Given the description of an element on the screen output the (x, y) to click on. 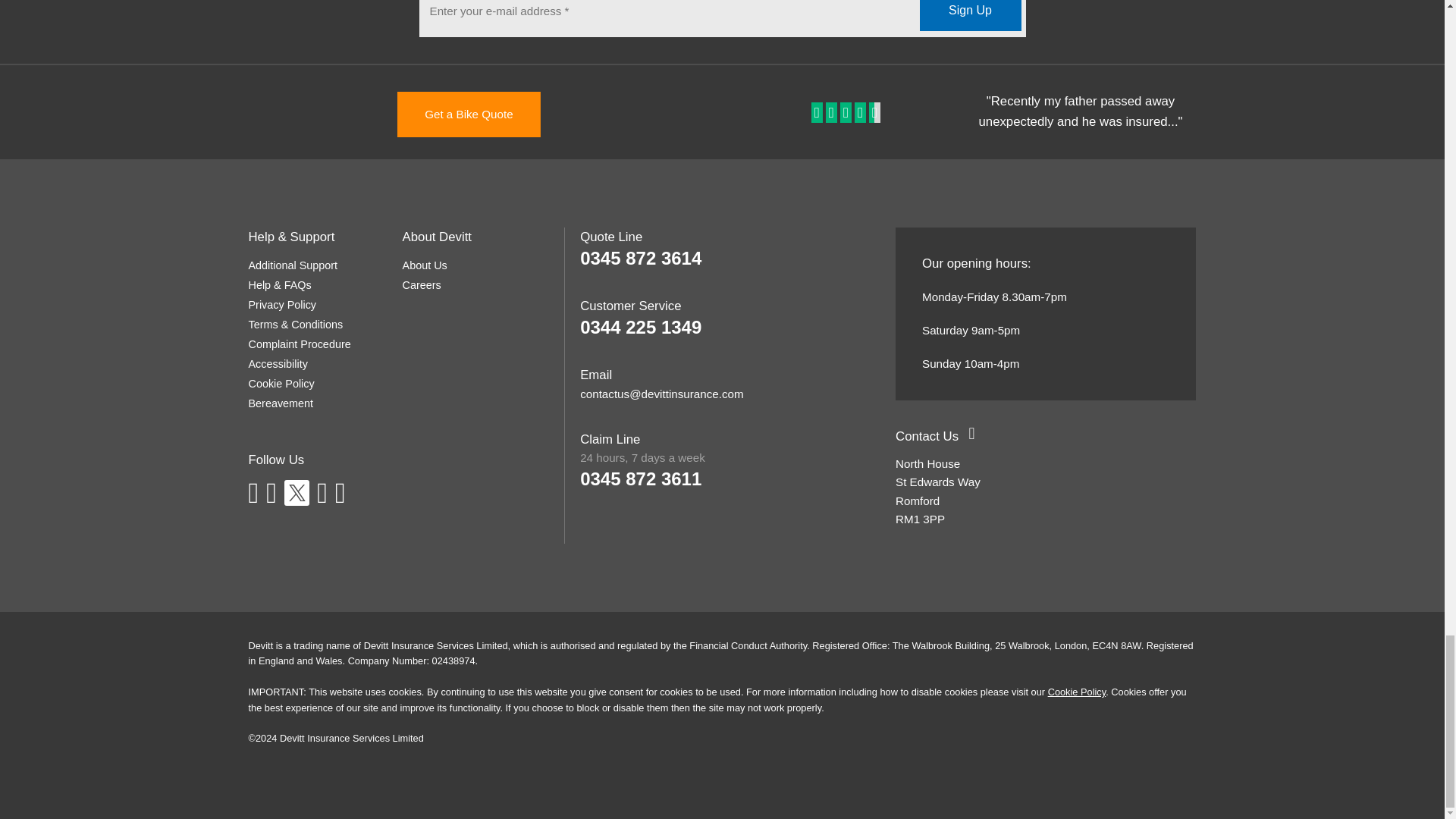
Rated 4.5 stars out of 5 (846, 113)
Return to Devitt Insurance homepage (286, 111)
Follow us on Twitter (295, 492)
Sign Up (969, 15)
Get in-touch with the Devitt team (926, 436)
